Given the description of an element on the screen output the (x, y) to click on. 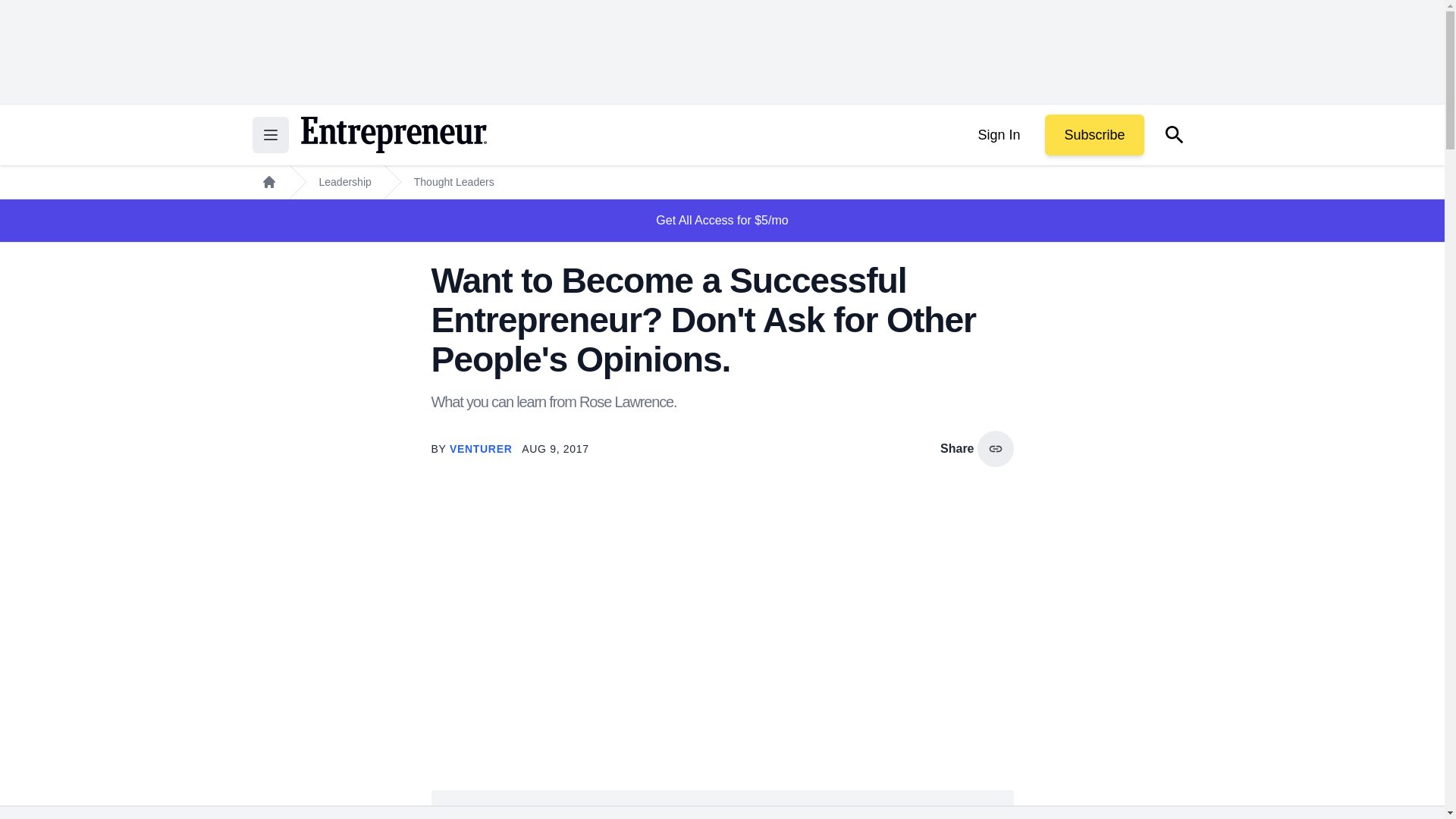
Sign In (998, 134)
Subscribe (1093, 134)
copy (994, 448)
Return to the home page (392, 135)
